Given the description of an element on the screen output the (x, y) to click on. 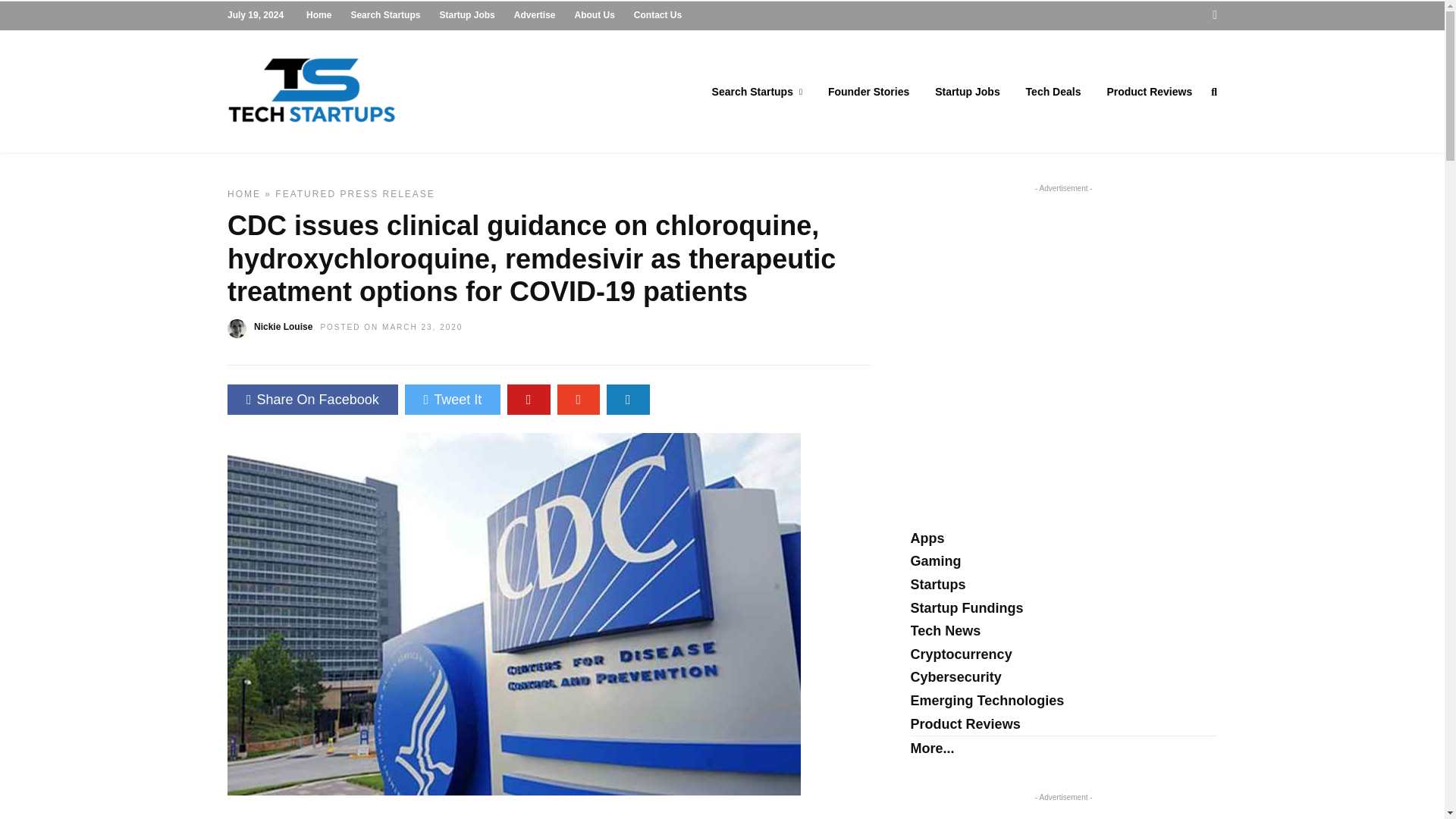
About Us (594, 14)
Founder Stories (868, 92)
Tech Deals (1053, 92)
Startup Jobs (967, 92)
Product Reviews (1149, 92)
Startup Jobs (467, 14)
Nickie Louise (283, 326)
Share On Facebook (312, 399)
Tweet It (452, 399)
FEATURED (305, 194)
Share by Email (628, 399)
Search Startups (385, 14)
Advertisement (1038, 308)
Share On Facebook (312, 399)
Share On Twitter (452, 399)
